Given the description of an element on the screen output the (x, y) to click on. 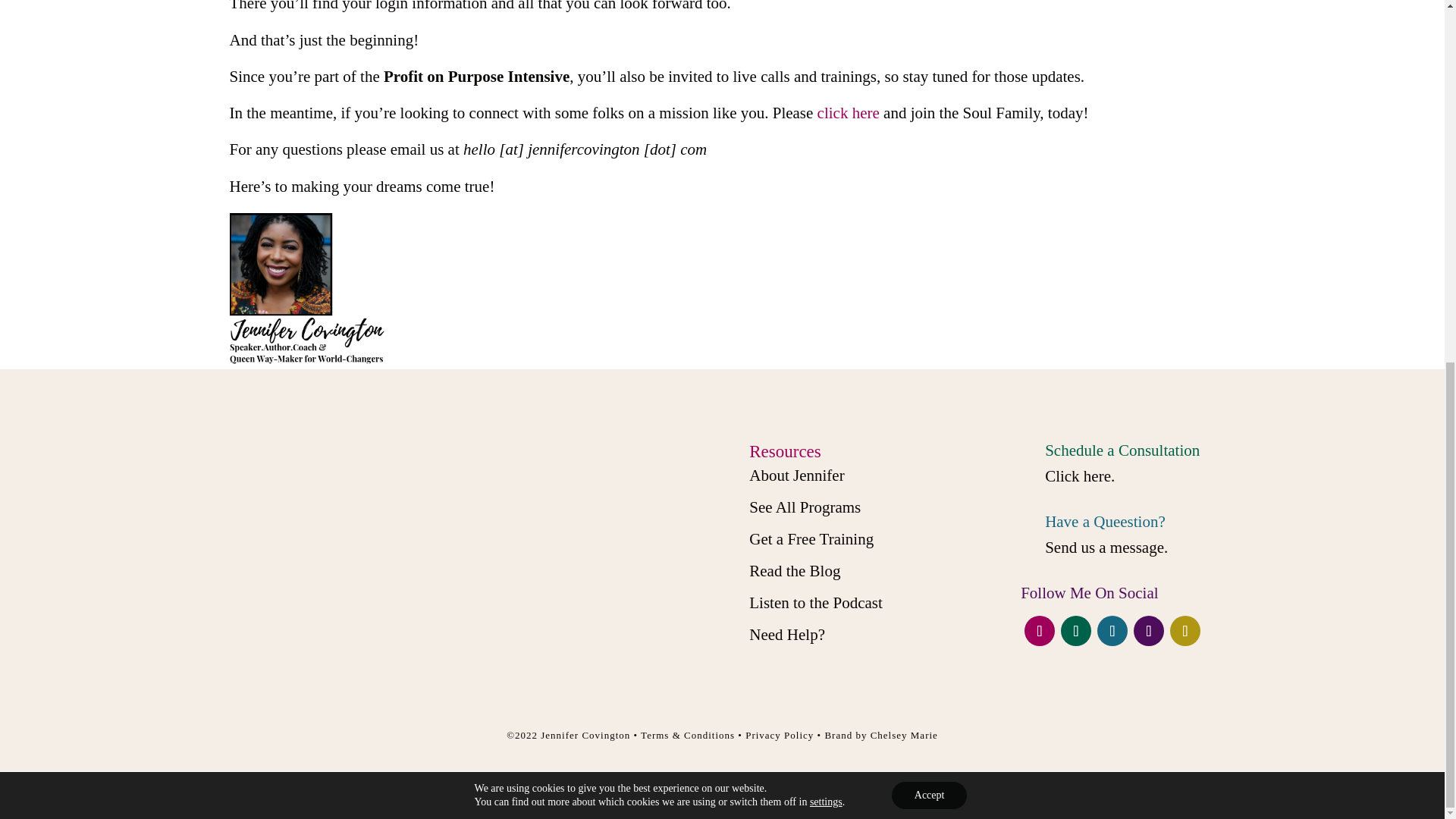
Follow on Facebook (1039, 630)
Schedule a Consultation (1122, 450)
Need Help? (787, 634)
See All Programs (804, 506)
click here (847, 113)
Have a Queestion? (1105, 521)
Follow on Pinterest (1184, 630)
Read the Blog (794, 570)
Listen to the Podcast (815, 602)
Privacy Policy (779, 735)
Follow on LinkedIn (1148, 630)
Follow on Instagram (1111, 630)
Follow on X (1075, 630)
Get a Free Training (811, 538)
settings (826, 156)
